Given the description of an element on the screen output the (x, y) to click on. 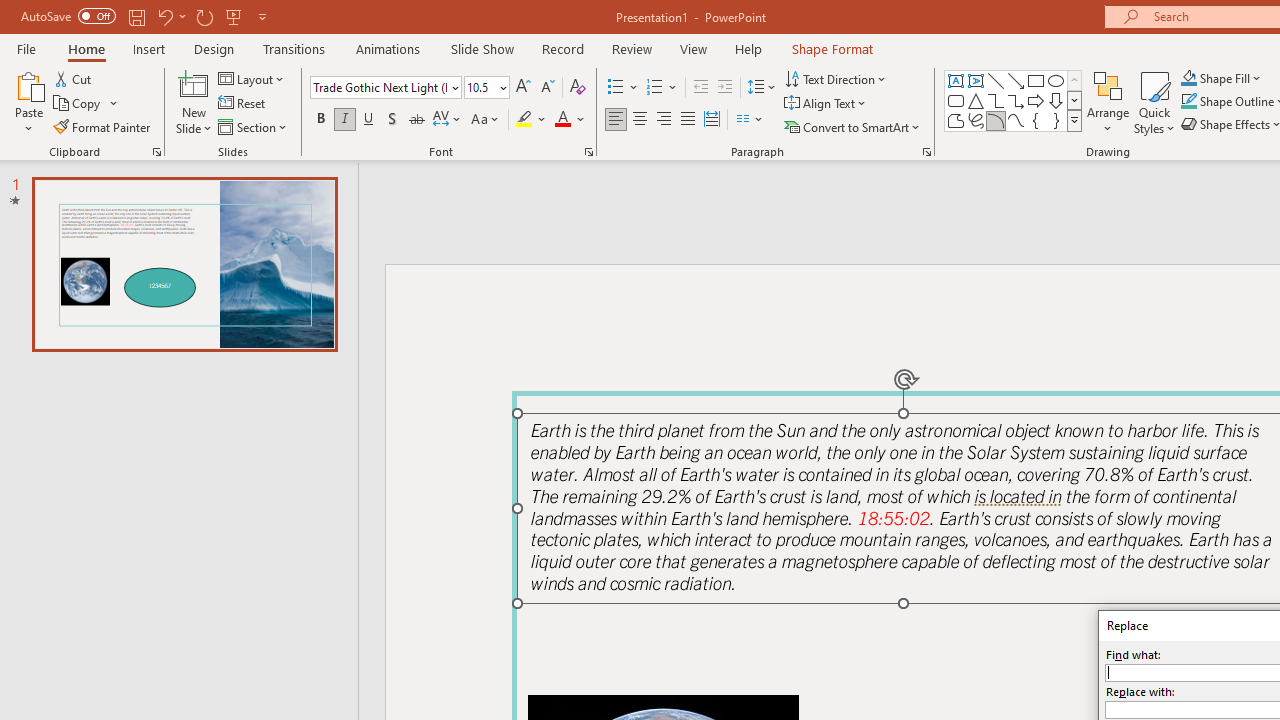
Rectangle (1035, 80)
Font Color (569, 119)
Isosceles Triangle (975, 100)
Office Clipboard... (156, 151)
Vertical Text Box (975, 80)
Quick Styles (1154, 102)
Strikethrough (416, 119)
Text Highlight Color (531, 119)
Reset (243, 103)
